Given the description of an element on the screen output the (x, y) to click on. 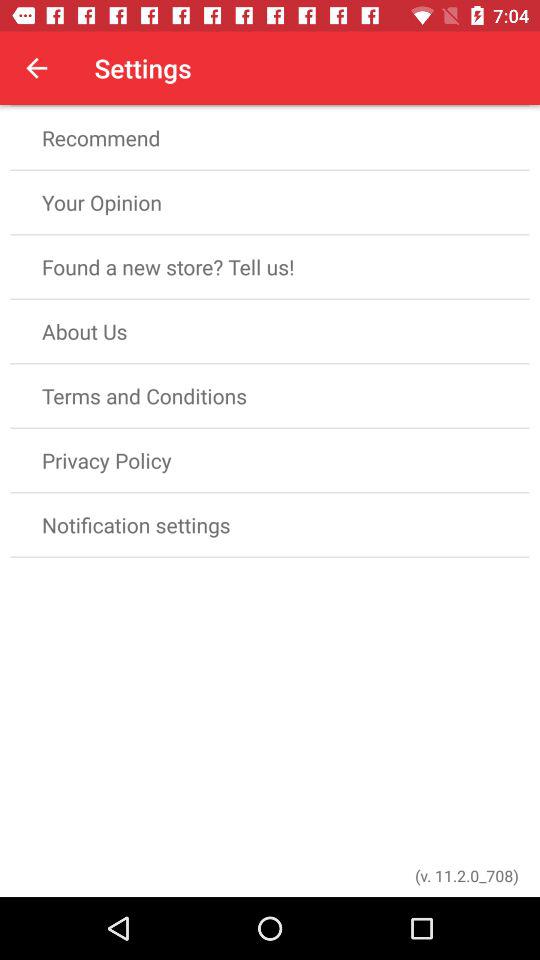
select the app next to settings item (36, 68)
